Given the description of an element on the screen output the (x, y) to click on. 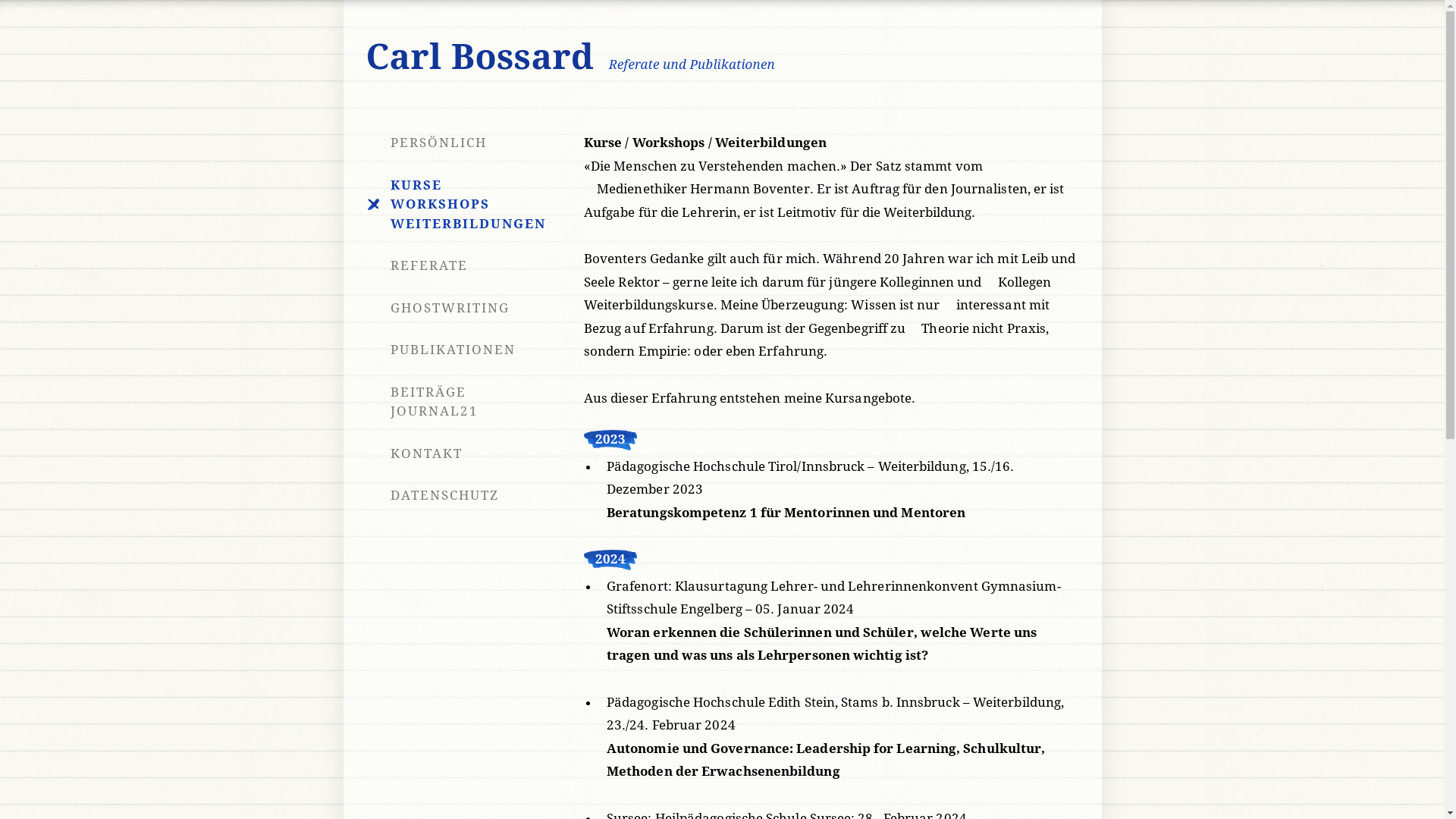
KURSE
WORKSHOPS
WEITERBILDUNGEN Element type: text (471, 203)
KONTAKT Element type: text (471, 453)
GHOSTWRITING Element type: text (471, 307)
PUBLIKATIONEN Element type: text (471, 350)
REFERATE Element type: text (471, 265)
DATENSCHUTZ Element type: text (471, 495)
